Given the description of an element on the screen output the (x, y) to click on. 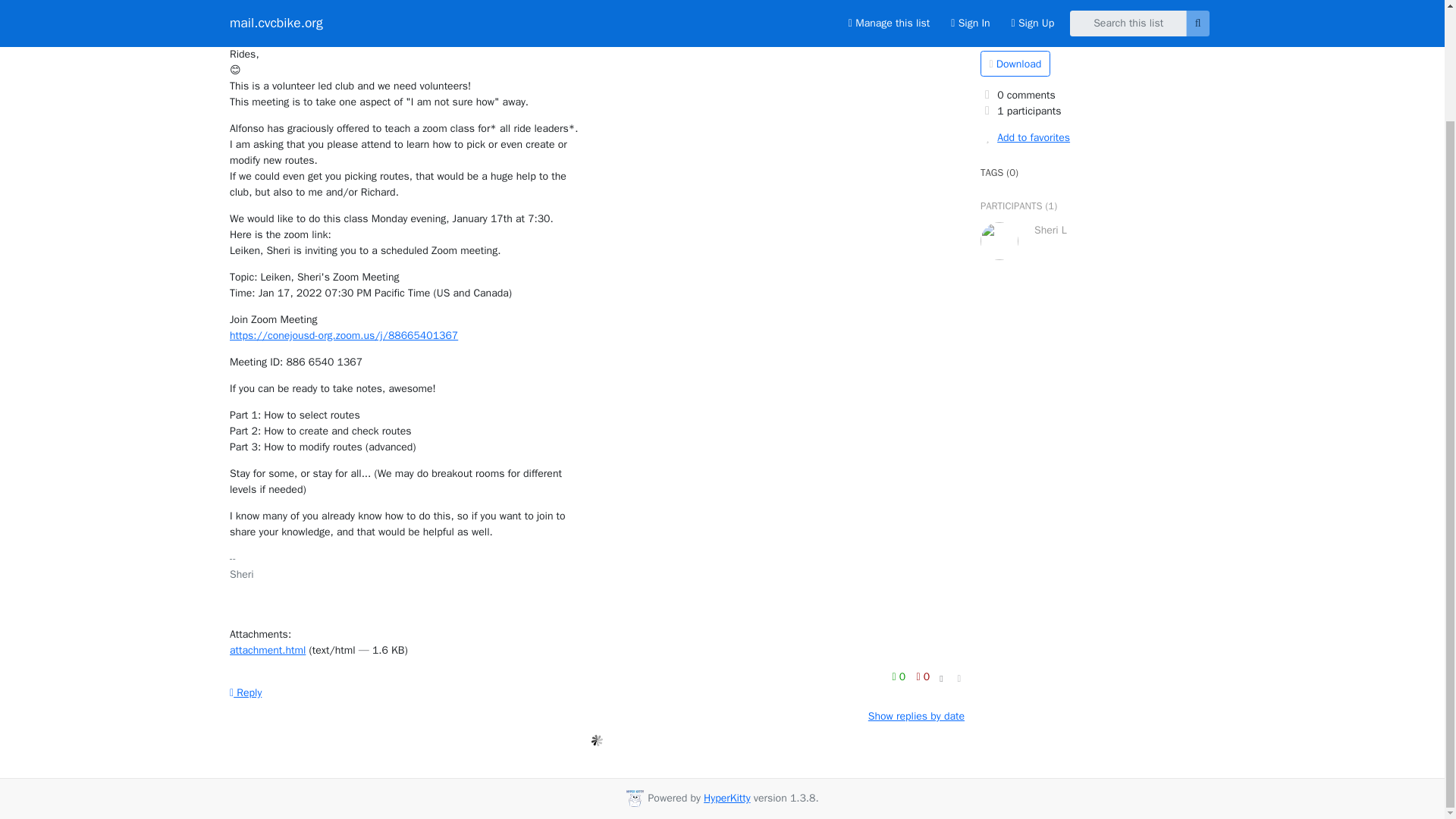
You must be logged-in to vote. (922, 676)
You must be logged-in to vote. (900, 676)
Permalink for this message (958, 678)
attachment.html (267, 649)
Add to favorites (1096, 137)
Sign in to reply online (246, 692)
HyperKitty (727, 797)
Show replies by date (915, 716)
List overview (1012, 29)
Display in fixed font (941, 679)
You must be logged-in to have favorites. (1096, 137)
0 (900, 676)
This thread in gzipped mbox format (1014, 63)
0 (922, 676)
Reply (246, 692)
